Given the description of an element on the screen output the (x, y) to click on. 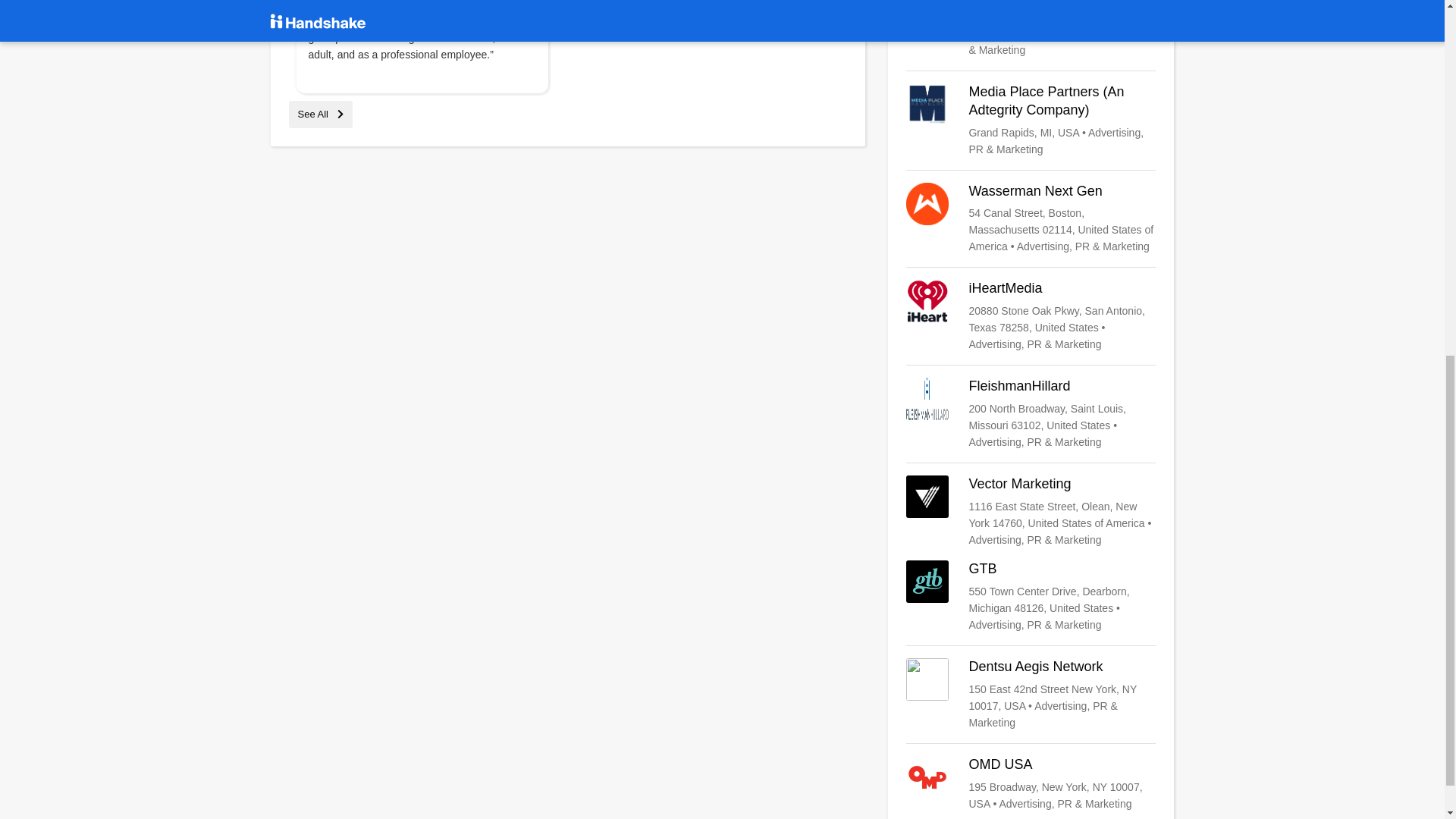
GTB (1030, 596)
See All (320, 113)
Dentsu Aegis Network (1030, 694)
Vector Marketing (1030, 511)
Wasserman Next Gen (1030, 218)
OMD USA (1030, 783)
iHeartMedia (1030, 316)
FleishmanHillard (1030, 413)
Pepper (1030, 29)
